Given the description of an element on the screen output the (x, y) to click on. 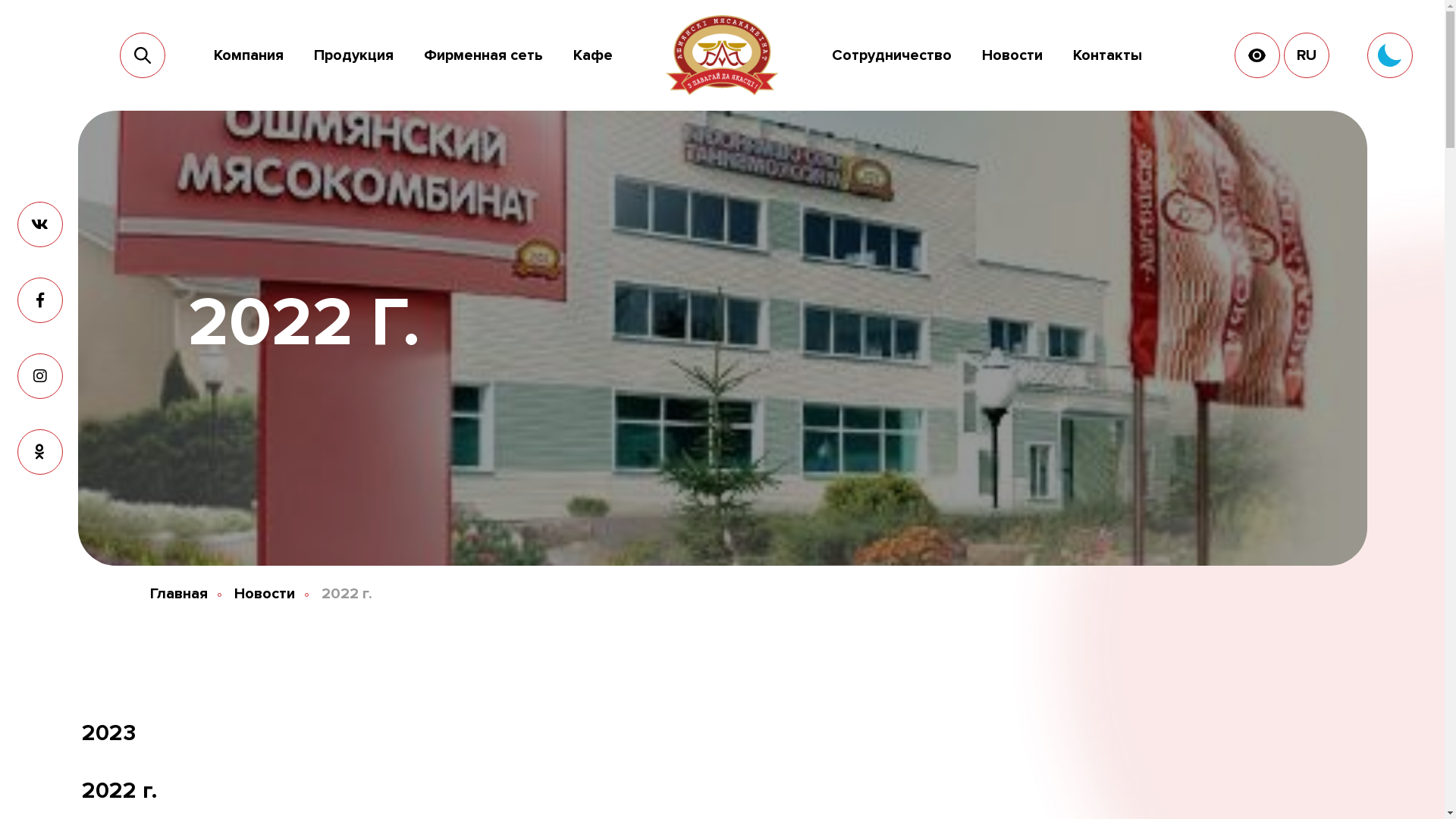
RU Element type: text (1306, 55)
2023 Element type: text (177, 732)
